Given the description of an element on the screen output the (x, y) to click on. 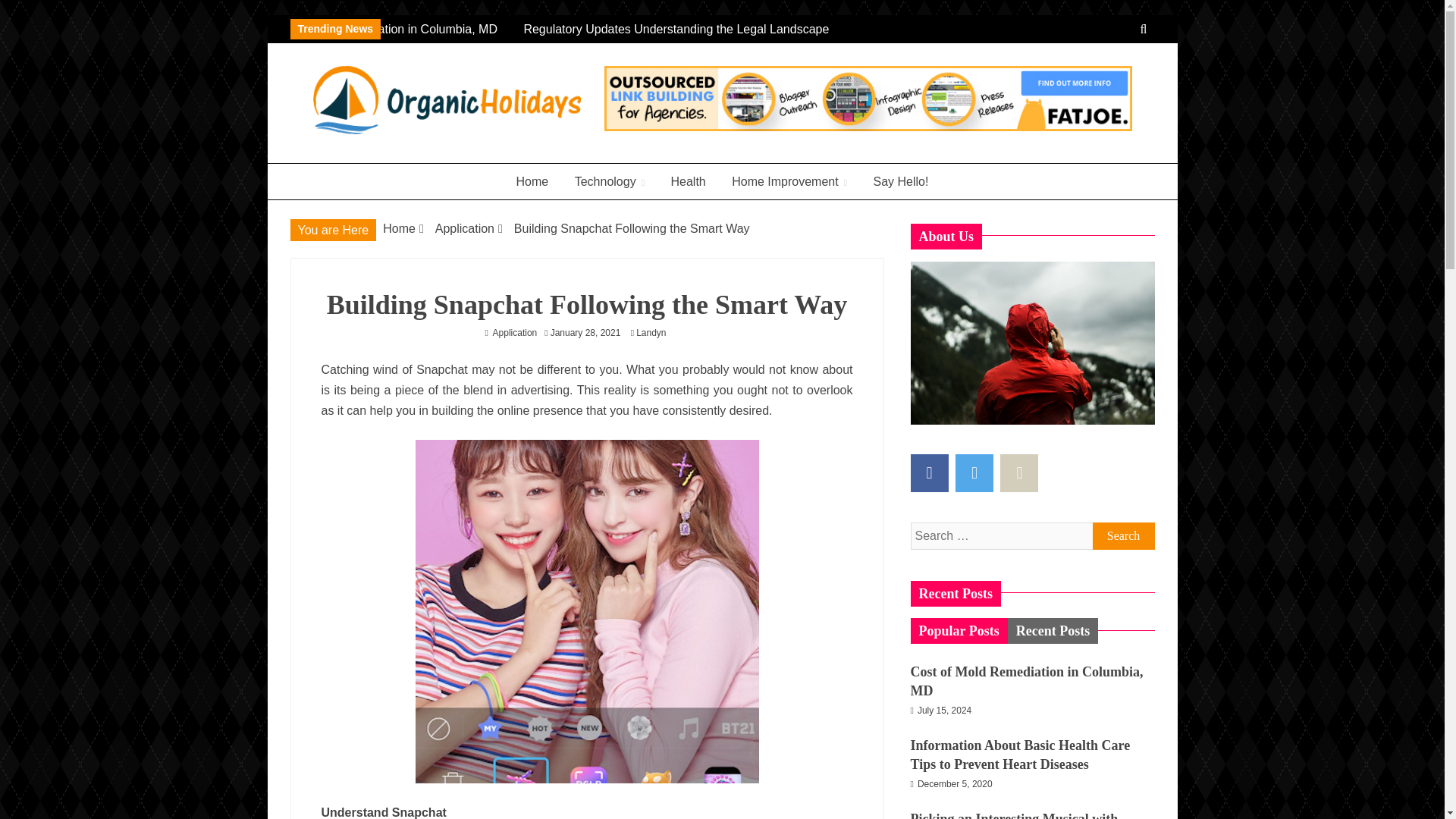
Home (532, 181)
Building Snapchat Following the Smart Way (631, 228)
Cost of Mold Remediation in Columbia, MD (407, 29)
Search (1123, 535)
Application (465, 228)
Health (687, 181)
Cost of Mold Remediation in Columbia, MD (397, 29)
Home Improvement (789, 181)
facebook (928, 473)
Say Hello! (900, 181)
January 28, 2021 (585, 332)
Search (1123, 535)
